Given the description of an element on the screen output the (x, y) to click on. 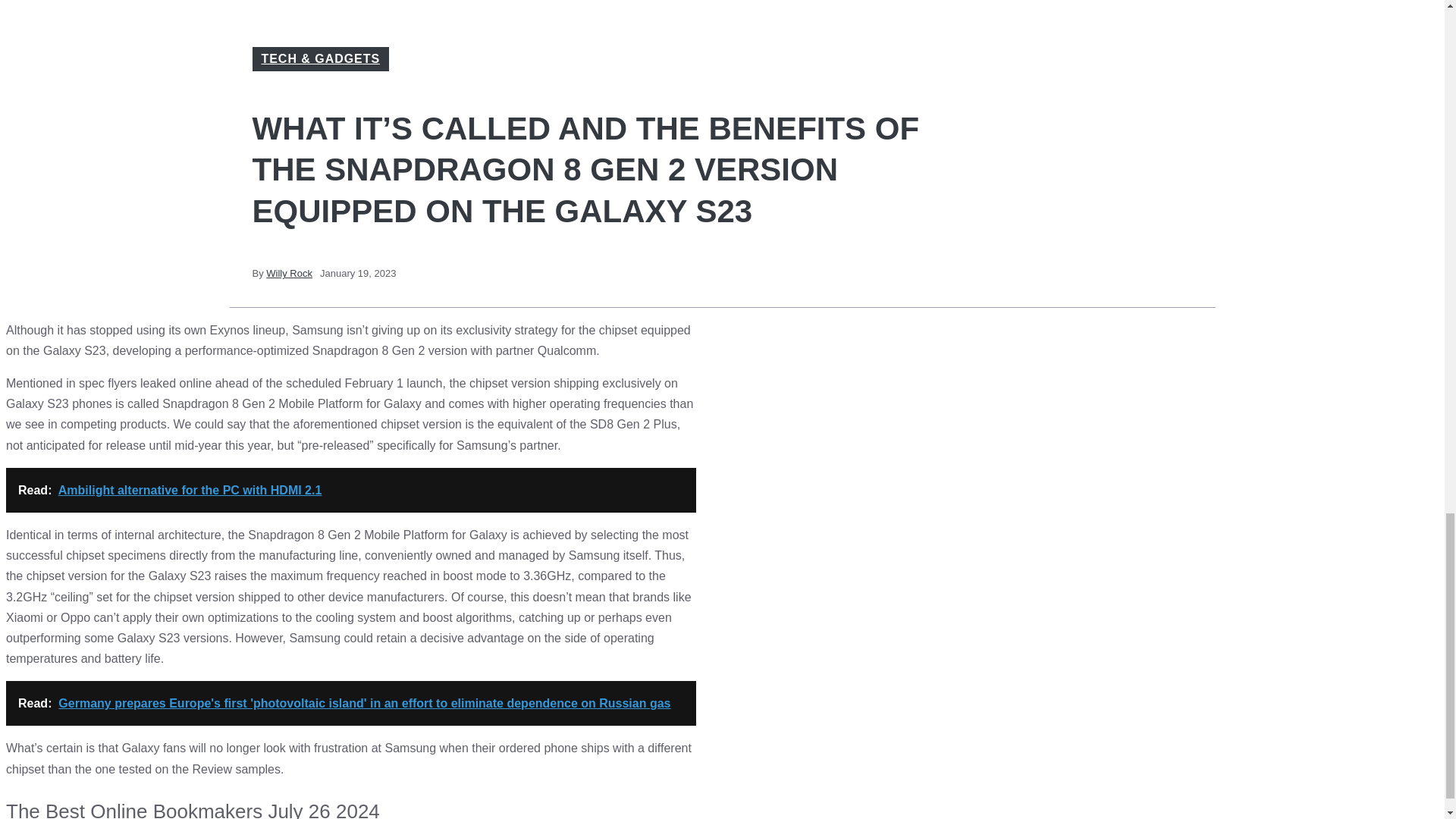
Willy Rock (289, 273)
Read:  Ambilight alternative for the PC with HDMI 2.1 (350, 489)
